Given the description of an element on the screen output the (x, y) to click on. 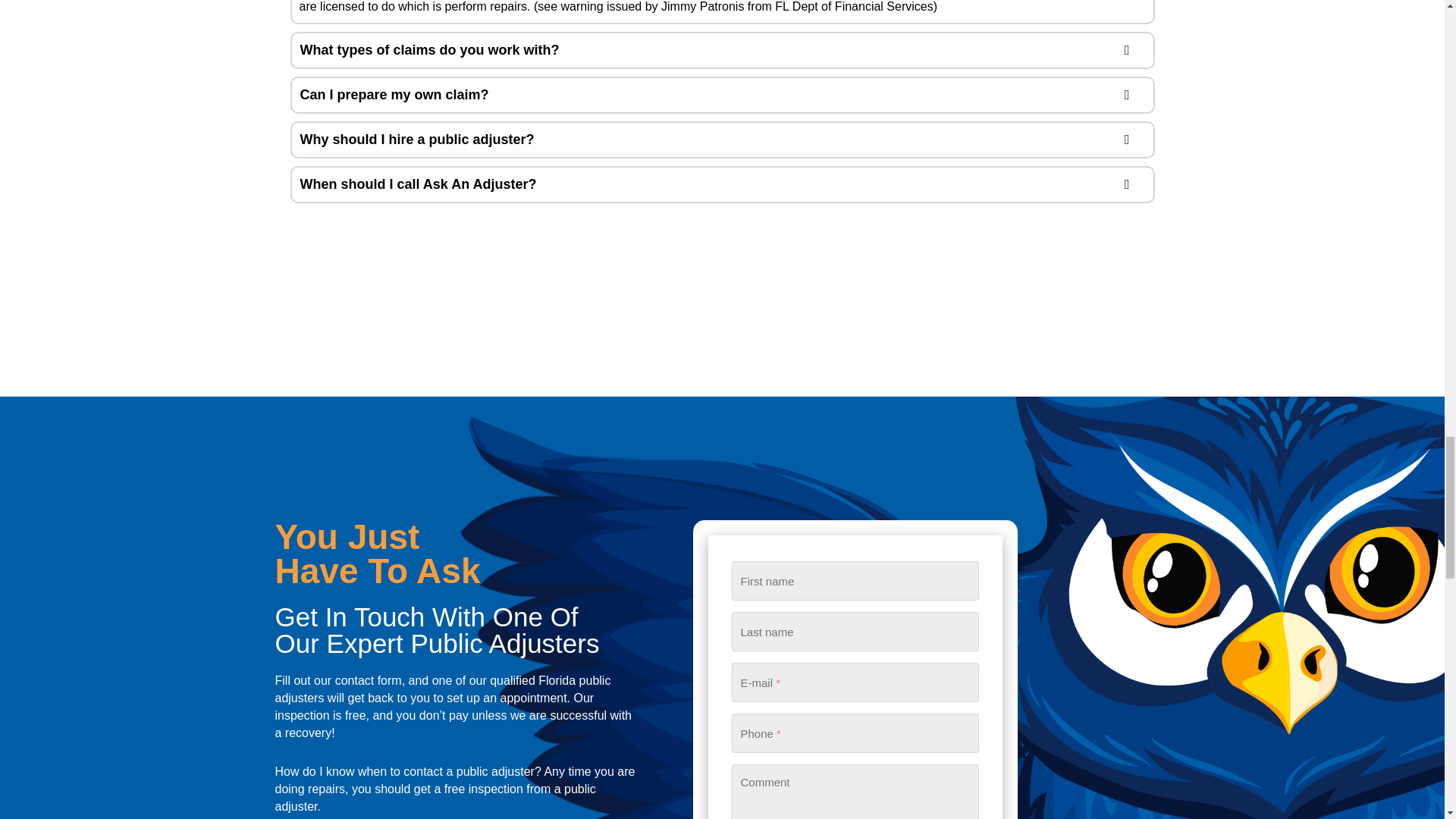
When should I call Ask An Adjuster? (722, 184)
Why should I hire a public adjuster? (722, 139)
Can I prepare my own claim? (722, 94)
What types of claims do you work with? (722, 50)
